Given the description of an element on the screen output the (x, y) to click on. 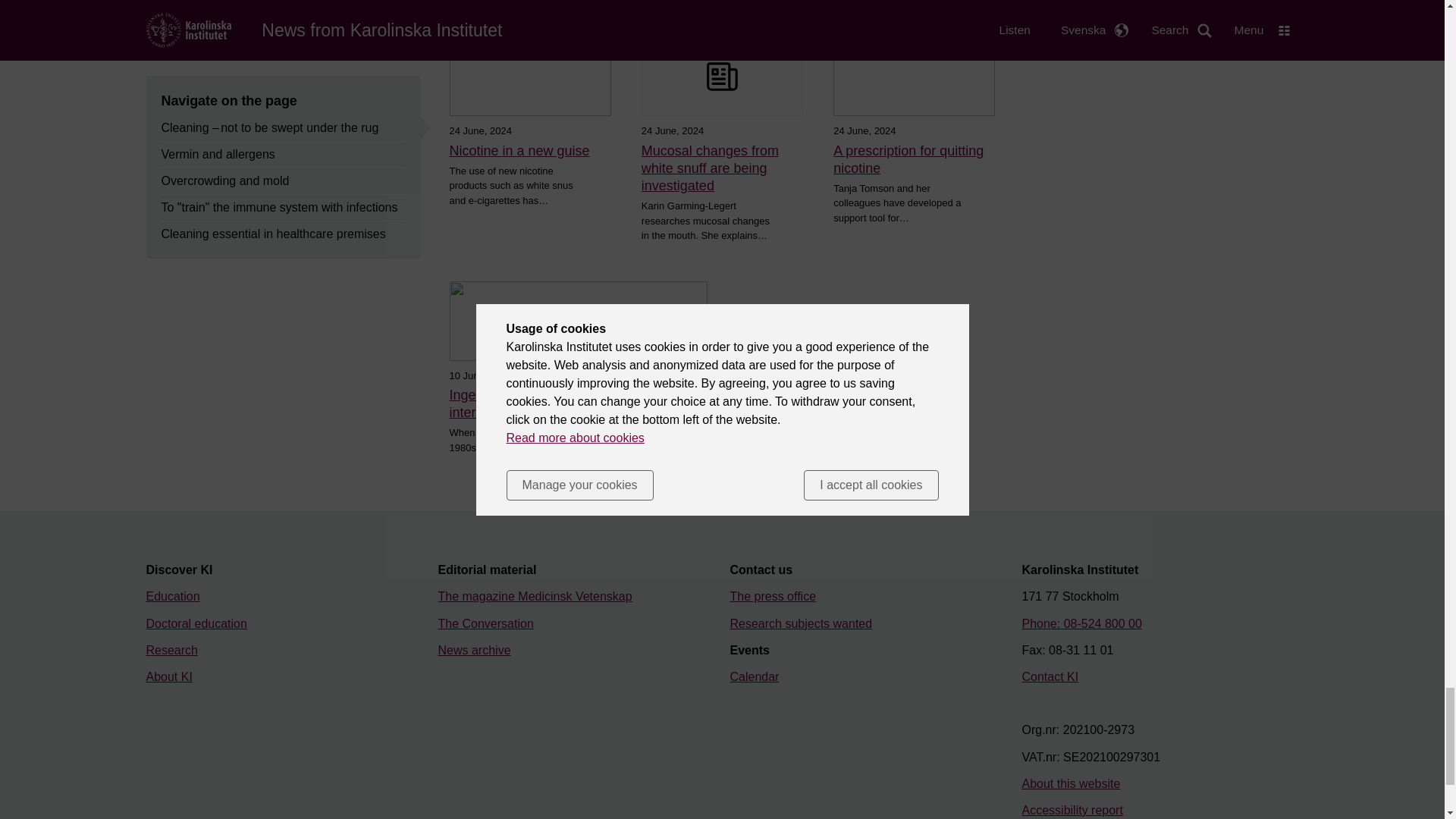
Nicotine in a new guise (529, 150)
